Given the description of an element on the screen output the (x, y) to click on. 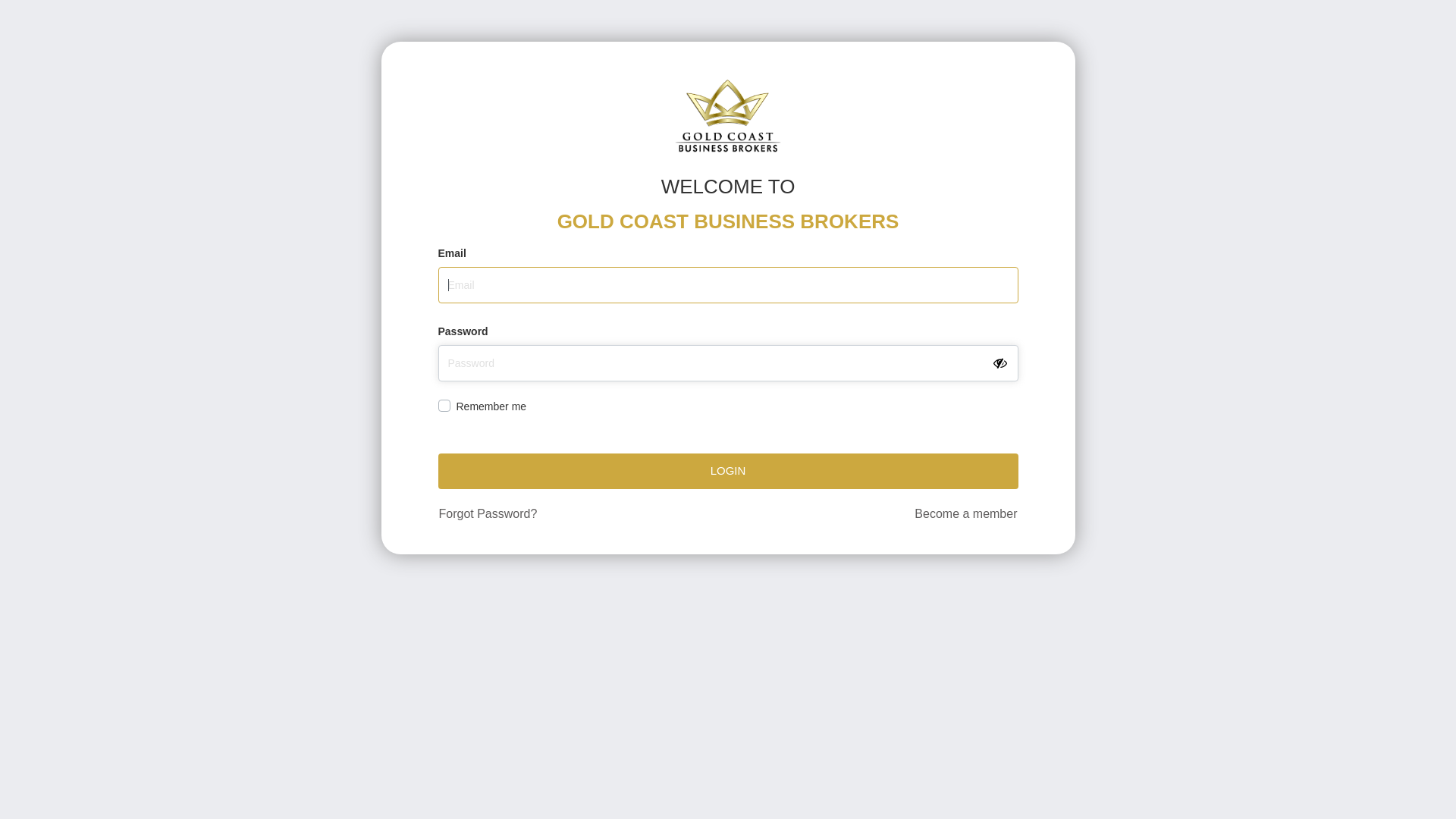
Become a member Element type: text (965, 514)
LOGIN Element type: text (728, 471)
Forgot Password? Element type: text (488, 514)
